Given the description of an element on the screen output the (x, y) to click on. 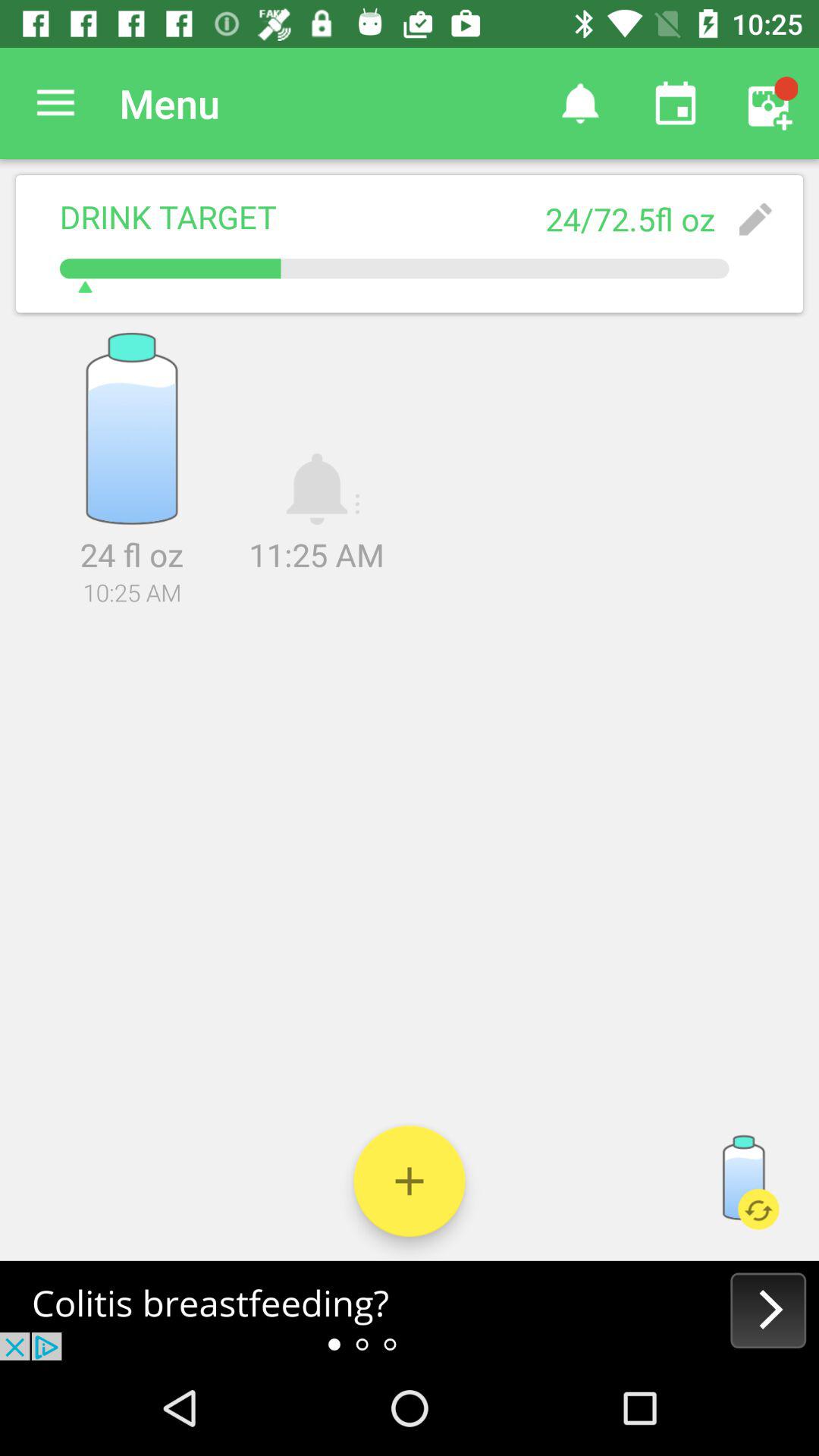
go to select option (409, 1181)
